Given the description of an element on the screen output the (x, y) to click on. 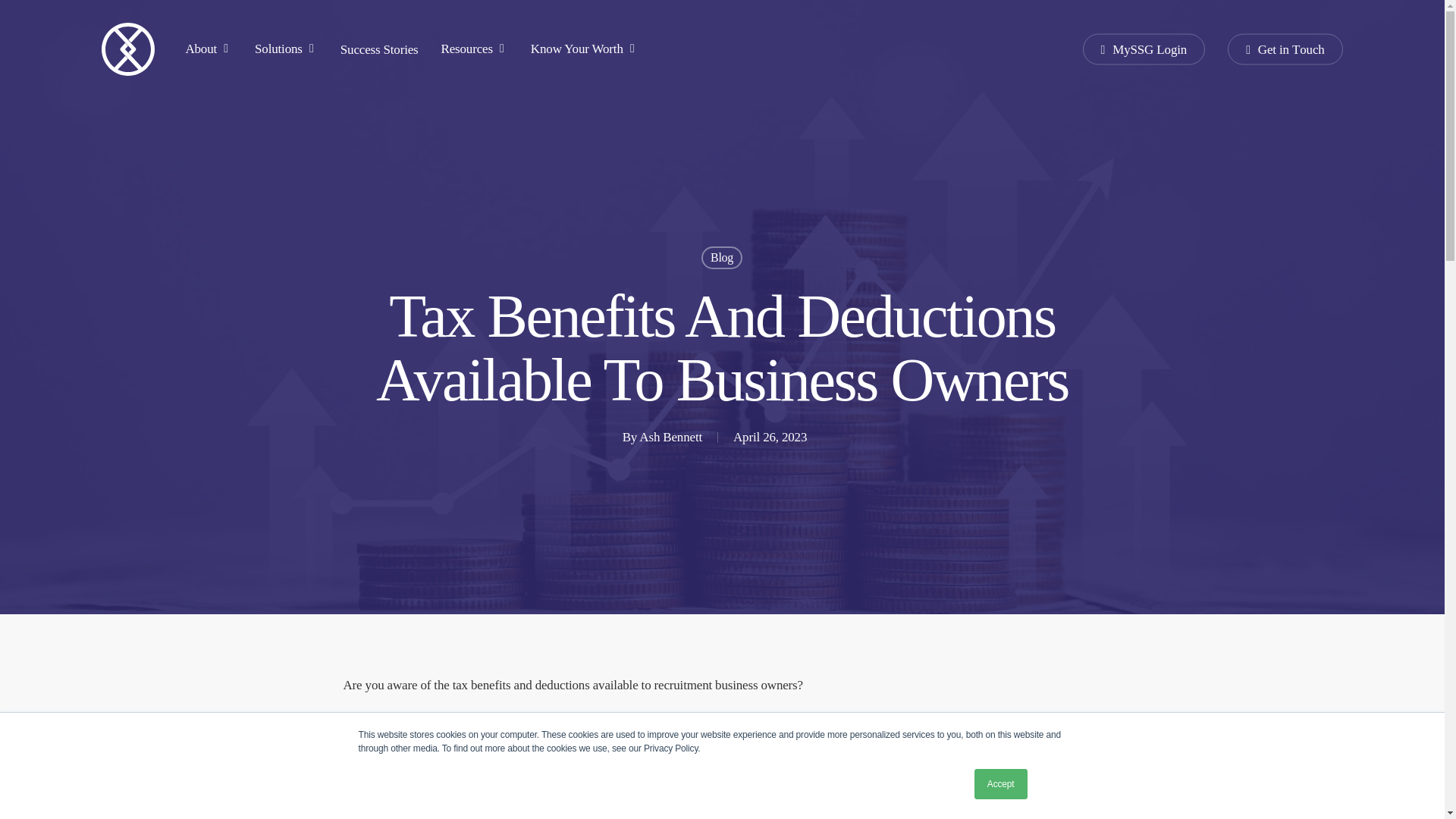
Blog (721, 257)
Know Your Worth (585, 49)
Solutions (285, 49)
Get in Touch (1284, 48)
About (207, 49)
Success Stories (379, 48)
Accept (1000, 784)
Resources (474, 49)
Posts by Ash Bennett (670, 436)
Ash Bennett (670, 436)
MySSG Login (1144, 48)
